Given the description of an element on the screen output the (x, y) to click on. 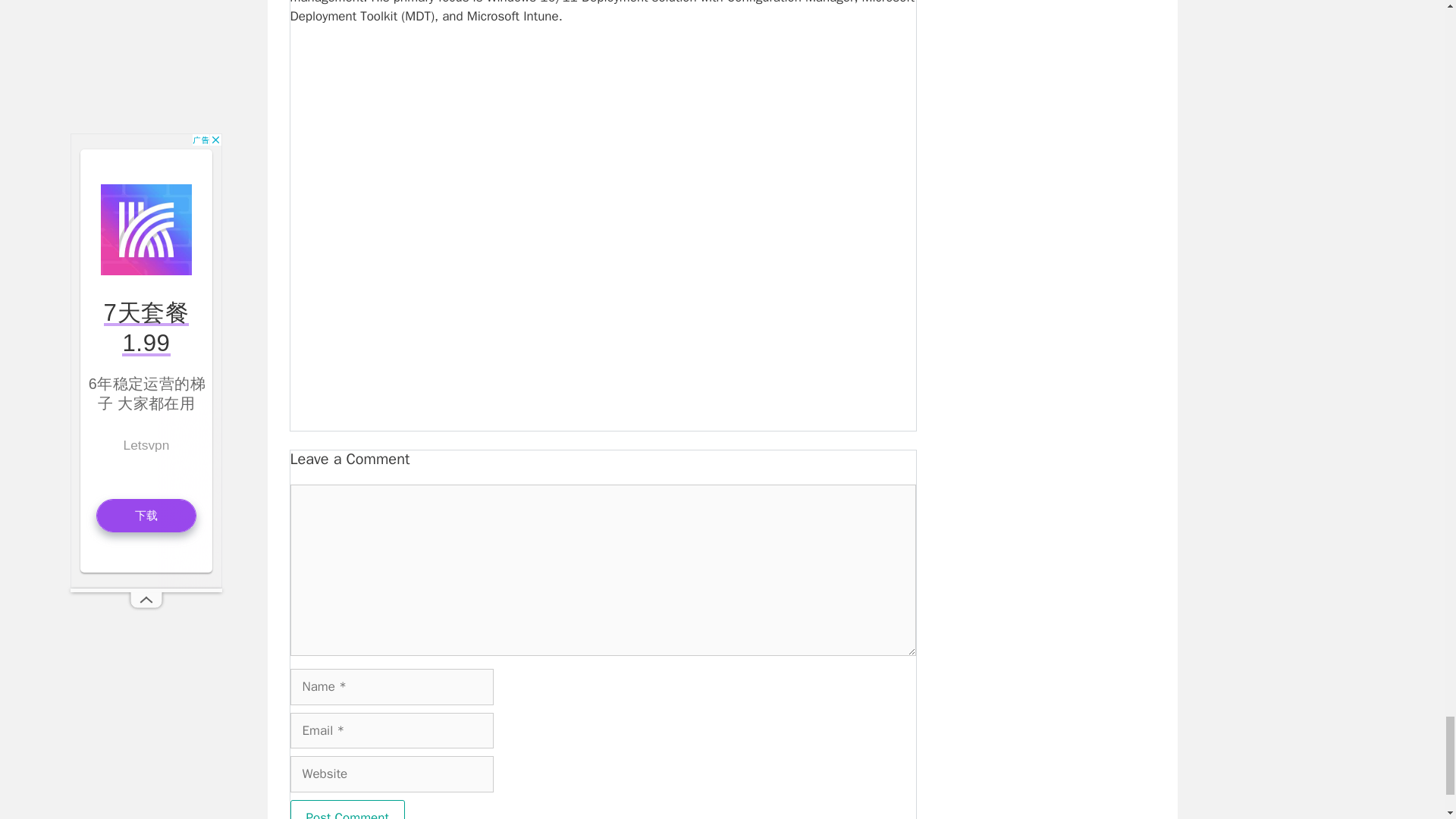
Post Comment (346, 809)
Post Comment (346, 809)
